Given the description of an element on the screen output the (x, y) to click on. 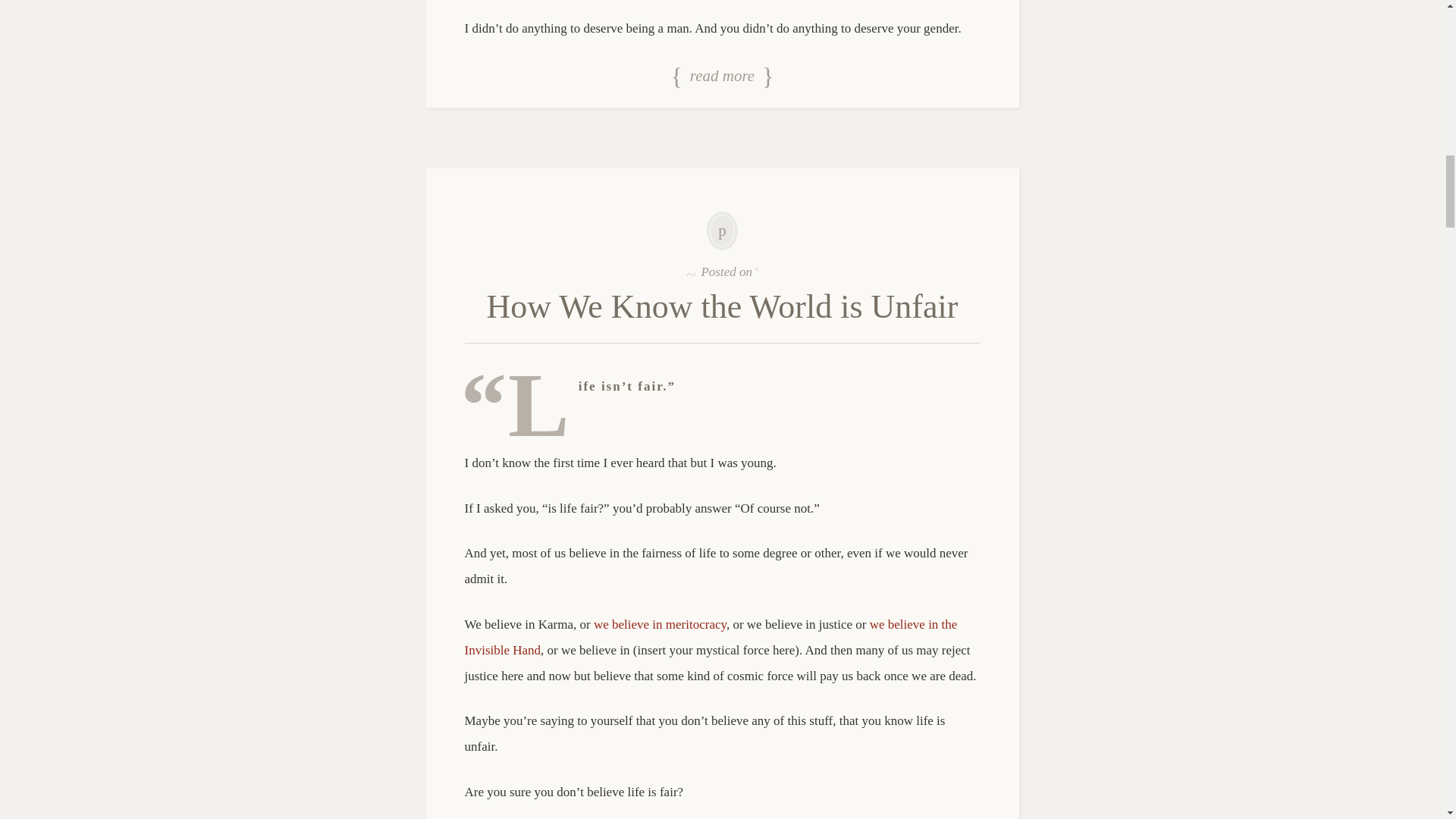
read more (721, 77)
How We Know the World is Unfair (722, 306)
we believe in meritocracy (660, 624)
we believe in the Invisible Hand (710, 637)
